Given the description of an element on the screen output the (x, y) to click on. 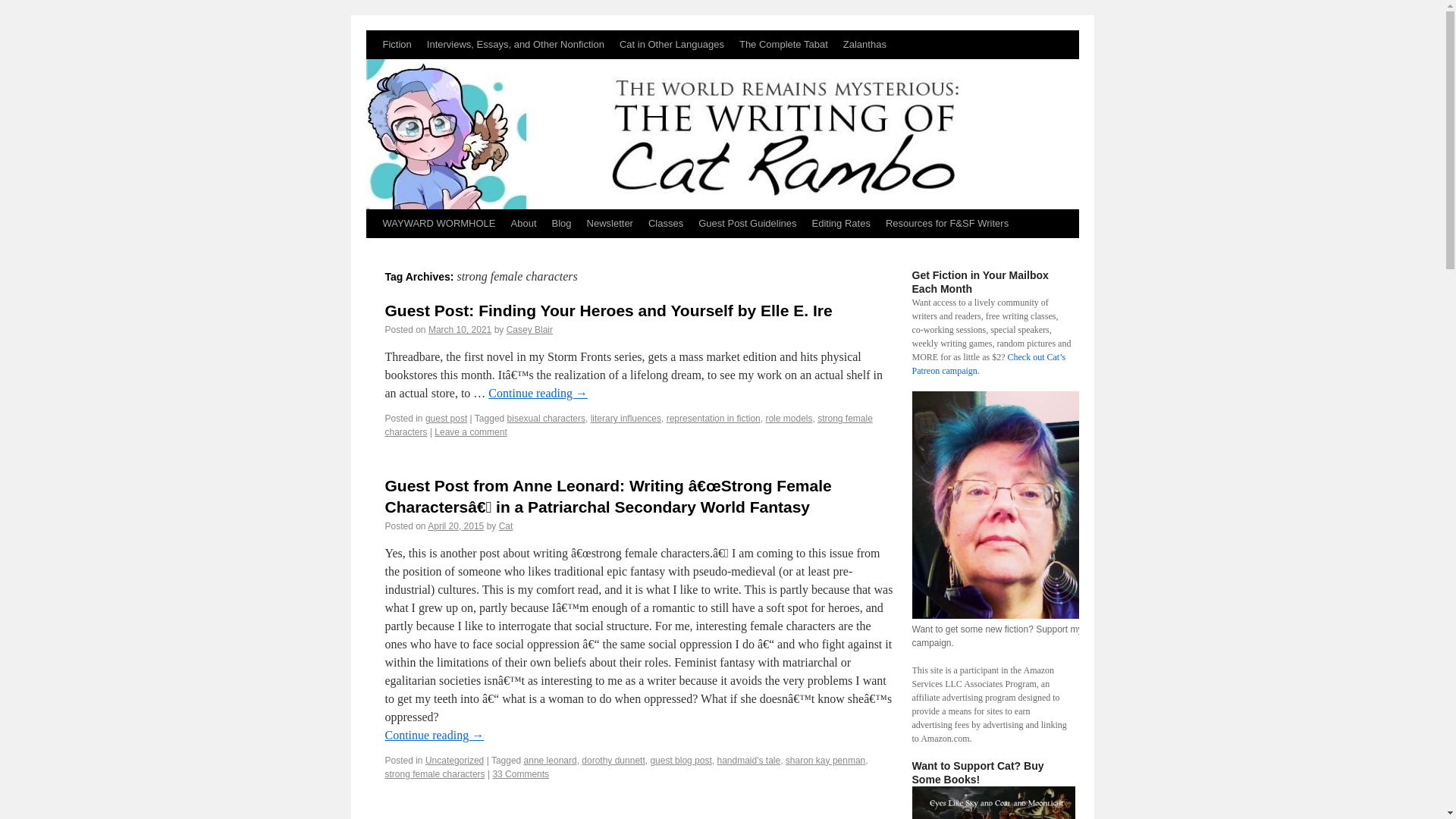
33 Comments (520, 774)
Cat (506, 525)
role models (788, 418)
literary influences (626, 418)
Blog (561, 223)
dorothy dunnett (612, 760)
AdCover (992, 802)
representation in fiction (713, 418)
WAYWARD WORMHOLE (438, 223)
guest blog post (680, 760)
Leave a comment (469, 431)
8:42 am (460, 329)
Fantasy World (783, 44)
handmaid's tale (748, 760)
Guest Post: Finding Your Heroes and Yourself by Elle E. Ire (608, 310)
